Given the description of an element on the screen output the (x, y) to click on. 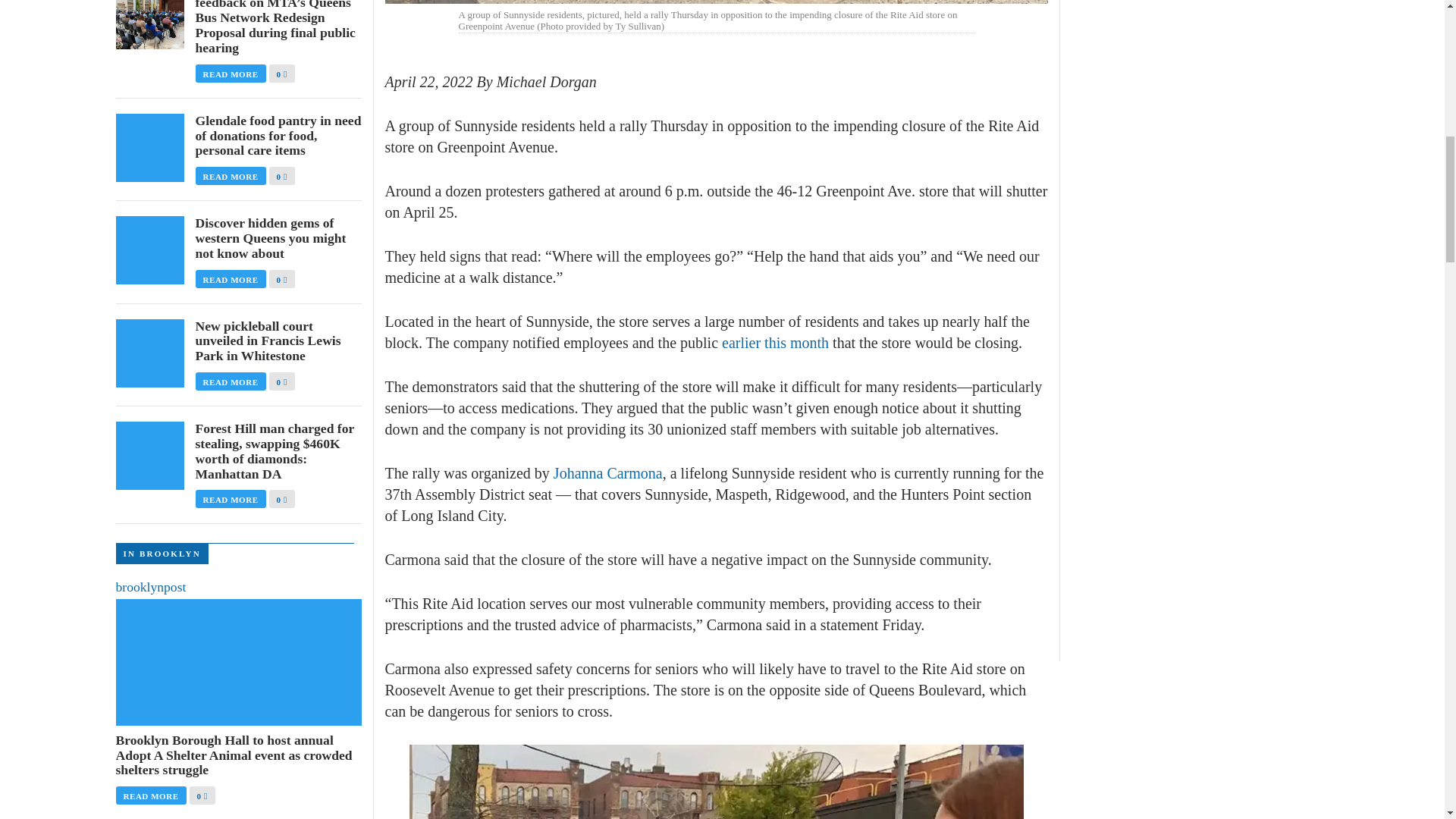
earlier this month (775, 342)
Johanna Carmona (607, 473)
